Given the description of an element on the screen output the (x, y) to click on. 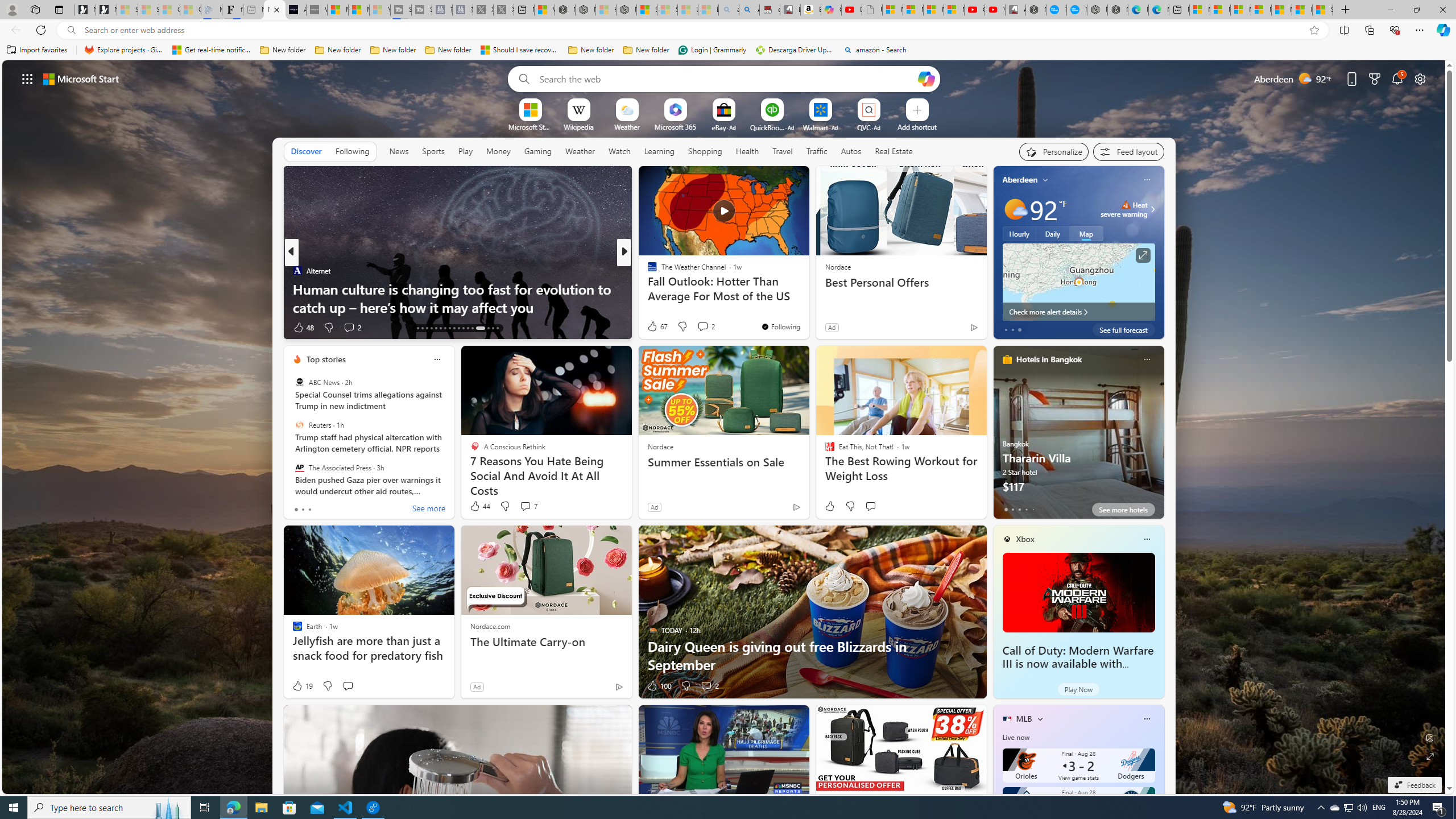
View comments 7 Comment (525, 505)
Copilot (Ctrl+Shift+.) (1442, 29)
Nordace - Summer Adventures 2024 (584, 9)
Following (352, 151)
Open Copilot (926, 78)
View comments 3 Comment (6, 327)
Dislike (685, 685)
Browser essentials (1394, 29)
amazon - Search - Sleeping (728, 9)
Nordace.com (490, 625)
tab-4 (1032, 509)
